Given the description of an element on the screen output the (x, y) to click on. 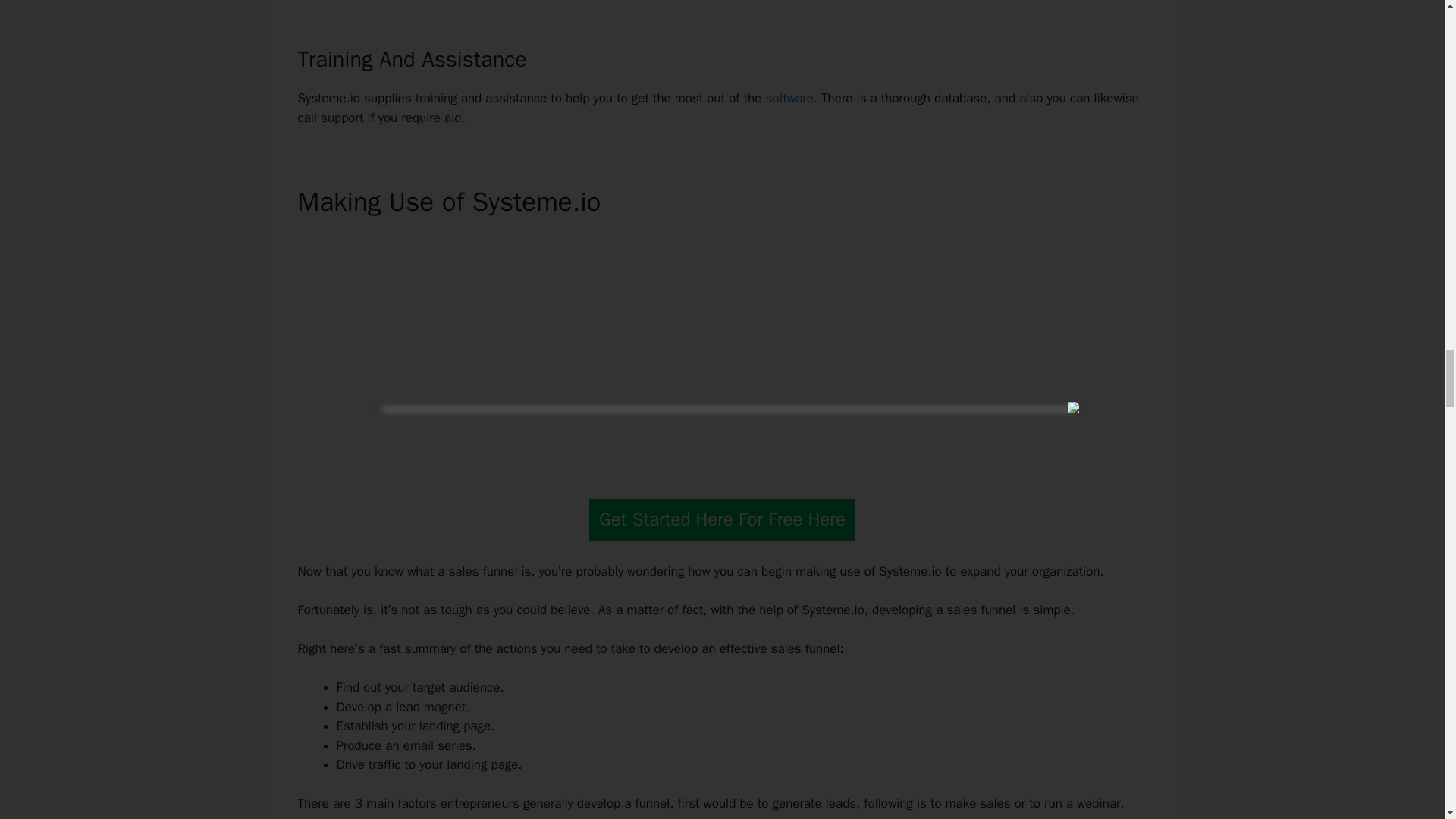
software (788, 98)
YouTube video player (721, 351)
Get Started Here For Free Here (722, 519)
